Given the description of an element on the screen output the (x, y) to click on. 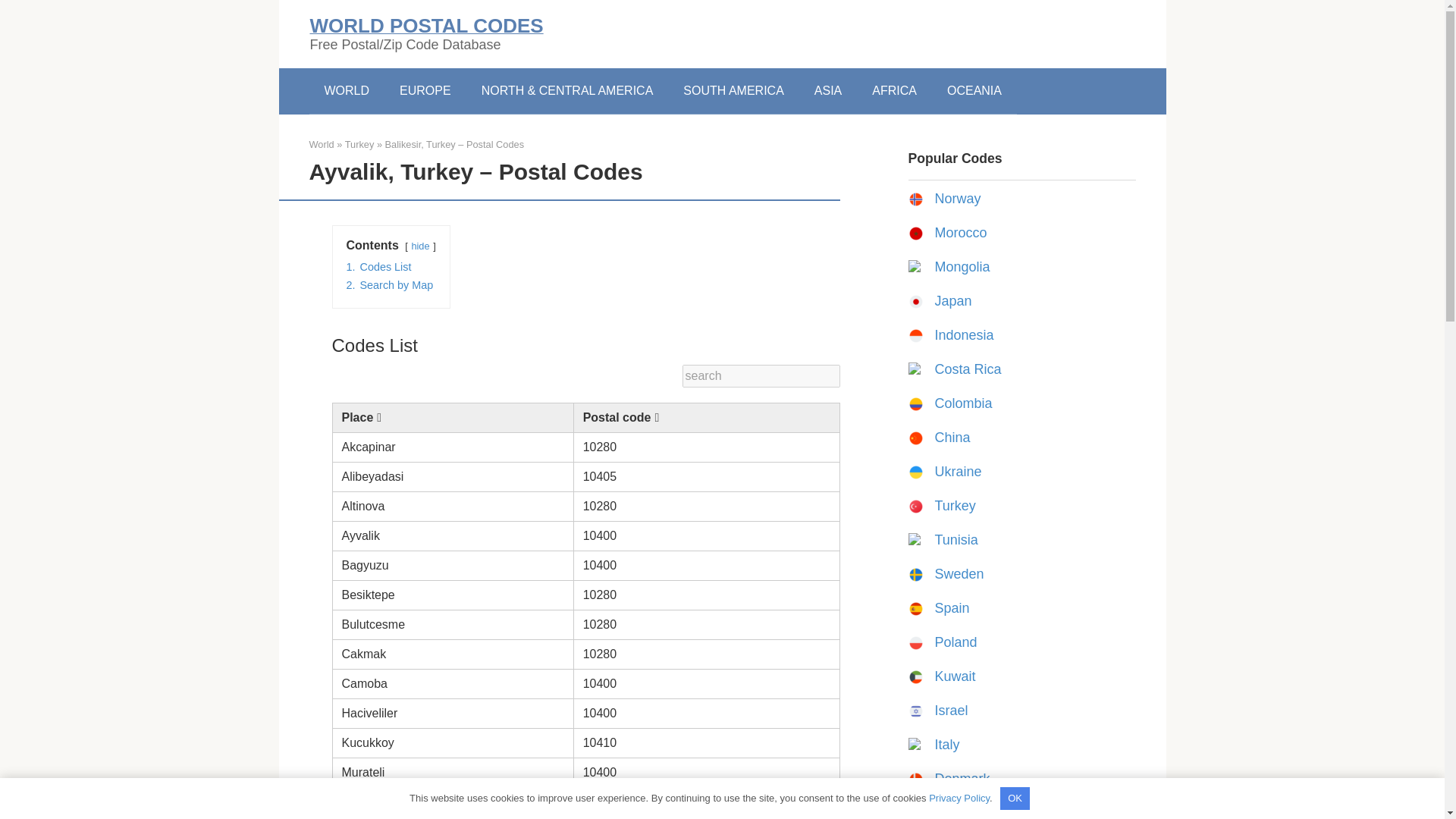
2. Search by Map (389, 285)
ASIA (828, 90)
SOUTH AMERICA (732, 90)
WORLD POSTAL CODES (425, 25)
Norway (956, 198)
WORLD (346, 90)
Costa Rica (967, 368)
EUROPE (424, 90)
Sweden (959, 573)
Turkey (954, 505)
hide (419, 245)
Indonesia (963, 335)
Colombia (962, 403)
1. Codes List (378, 266)
OCEANIA (973, 90)
